Given the description of an element on the screen output the (x, y) to click on. 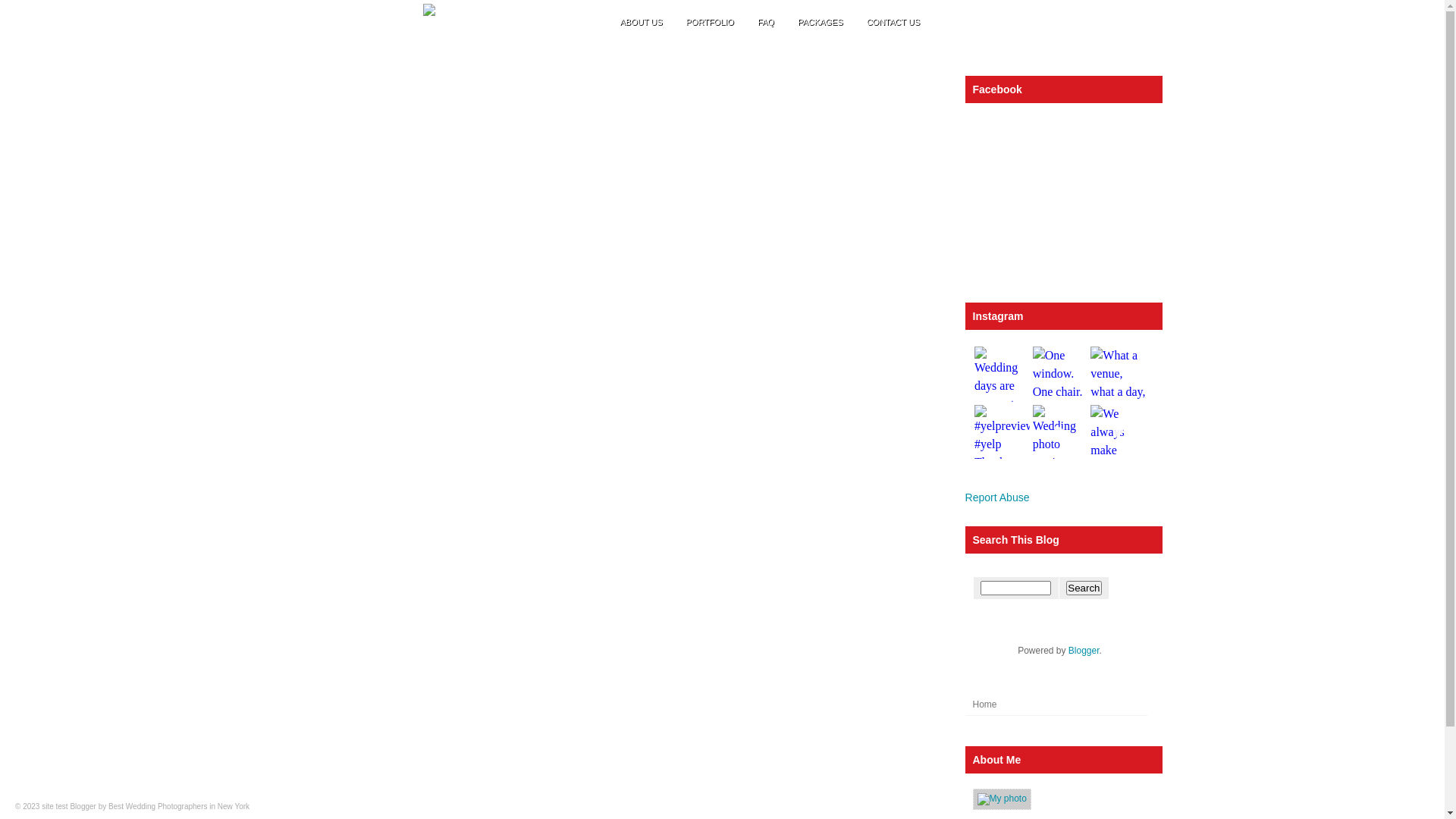
PACKAGES Element type: text (820, 21)
Report Abuse Element type: text (996, 497)
FAQ Element type: text (765, 21)
CONTACT US Element type: text (893, 21)
search Element type: hover (1083, 587)
ABOUT US Element type: text (640, 21)
Search Element type: text (1083, 587)
PORTFOLIO Element type: text (709, 21)
Blogger Element type: text (1083, 650)
search Element type: hover (1015, 587)
Best Wedding Photographers in New York Element type: text (178, 806)
Home Element type: text (984, 704)
site test Element type: text (54, 806)
